Given the description of an element on the screen output the (x, y) to click on. 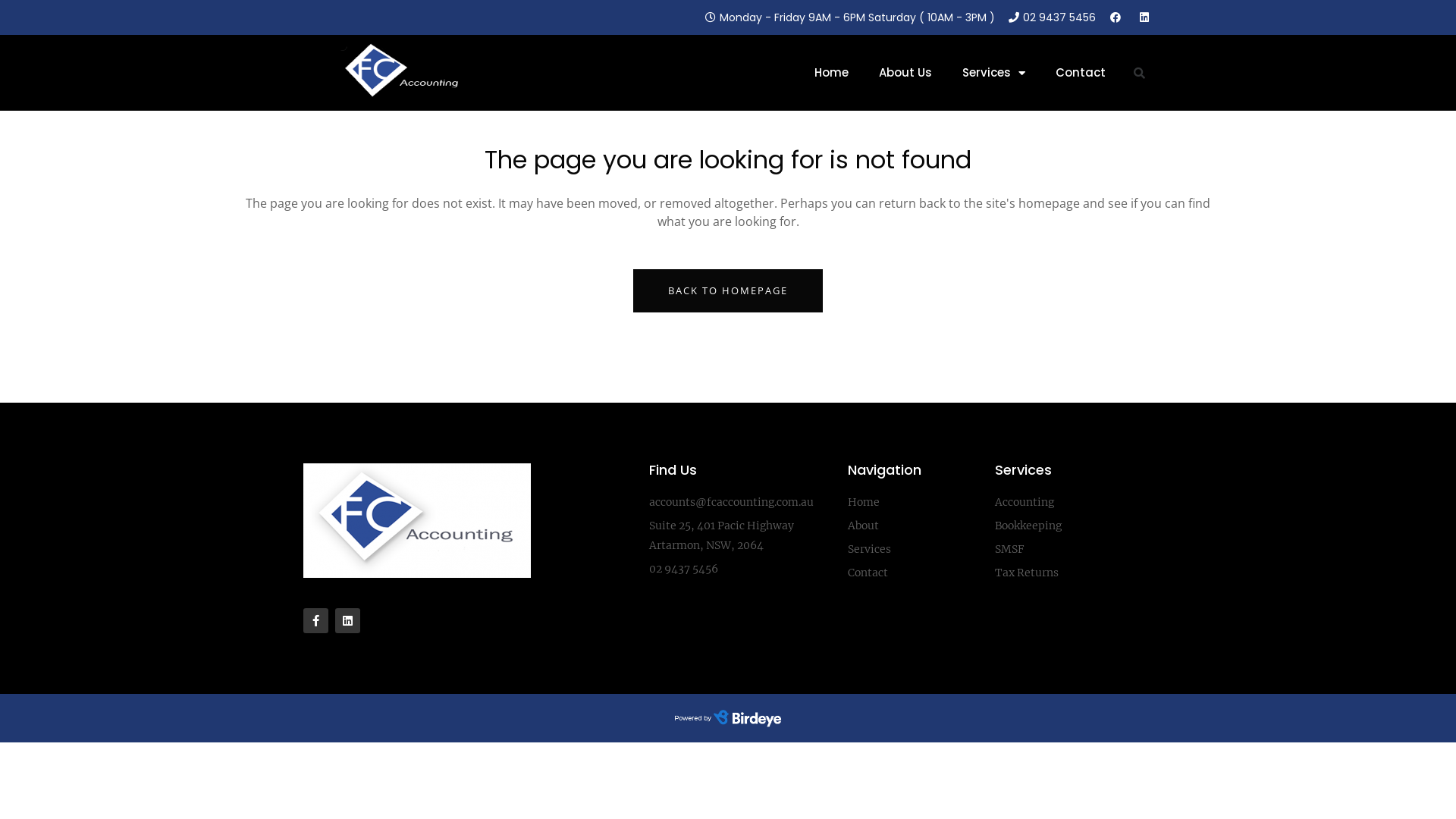
About Element type: text (913, 525)
SMSF Element type: text (1073, 548)
Services Element type: text (913, 548)
Accounting Element type: text (1073, 501)
Contact Element type: text (913, 572)
02 9437 5456 Element type: text (740, 568)
Contact Element type: text (1080, 72)
Services Element type: text (993, 72)
About Us Element type: text (905, 72)
Bookkeeping Element type: text (1073, 525)
accounts@fcaccounting.com.au Element type: text (740, 501)
BACK TO HOMEPAGE Element type: text (727, 290)
Tax Returns Element type: text (1073, 572)
Search Element type: hover (1157, 72)
Home Element type: text (913, 501)
FC-Accountingwhite Element type: hover (403, 72)
Home Element type: text (831, 72)
02 9437 5456 Element type: text (1050, 17)
